Given the description of an element on the screen output the (x, y) to click on. 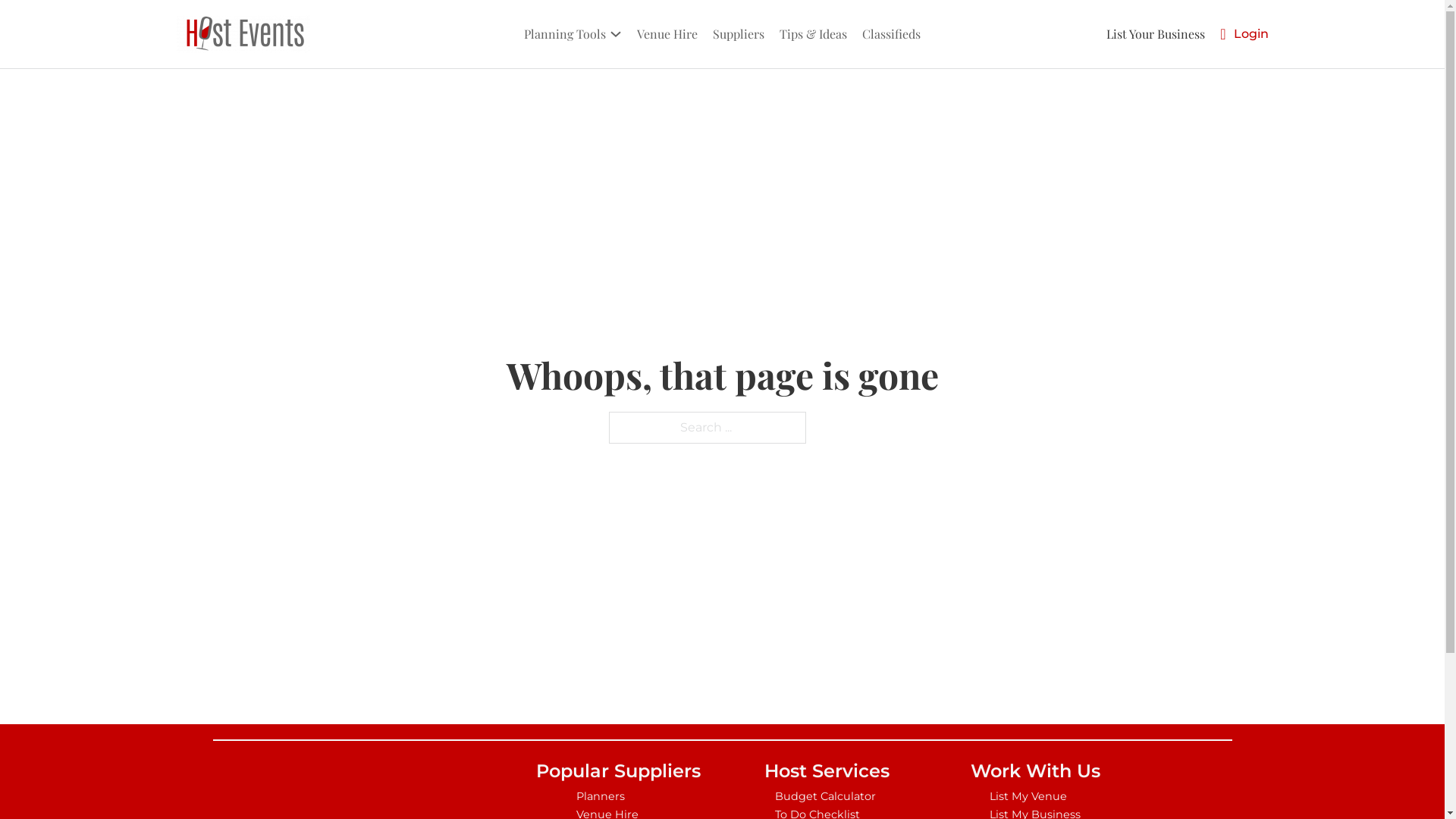
Classifieds Element type: text (891, 33)
Suppliers Element type: text (738, 33)
Planners Element type: text (618, 796)
Planning Tools Element type: text (564, 33)
List My Venue Element type: text (1034, 796)
Budget Calculator Element type: text (826, 796)
Venue Hire Element type: text (667, 33)
List Your Business Element type: text (1155, 33)
Login Element type: text (1250, 33)
Tips & Ideas Element type: text (812, 33)
